Given the description of an element on the screen output the (x, y) to click on. 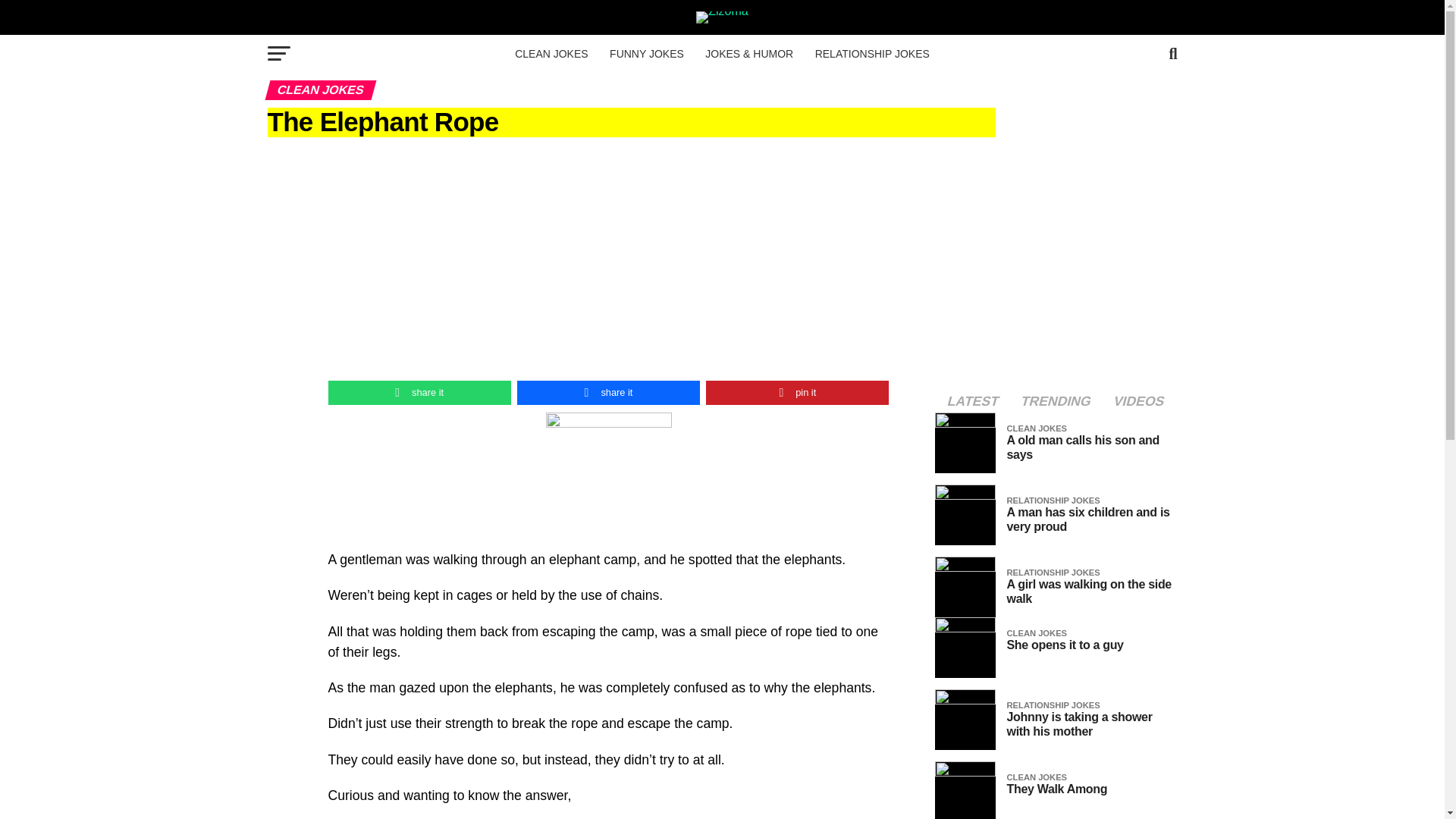
CLEAN JOKES (550, 53)
share it (608, 392)
TRENDING (1055, 401)
share it (419, 392)
LATEST (973, 401)
VIDEOS (1138, 401)
Submit this to Pinterest (797, 392)
pin it (797, 392)
FUNNY JOKES (646, 53)
WhatsApp (419, 392)
Share this on Facebook (608, 392)
RELATIONSHIP JOKES (872, 53)
